Given the description of an element on the screen output the (x, y) to click on. 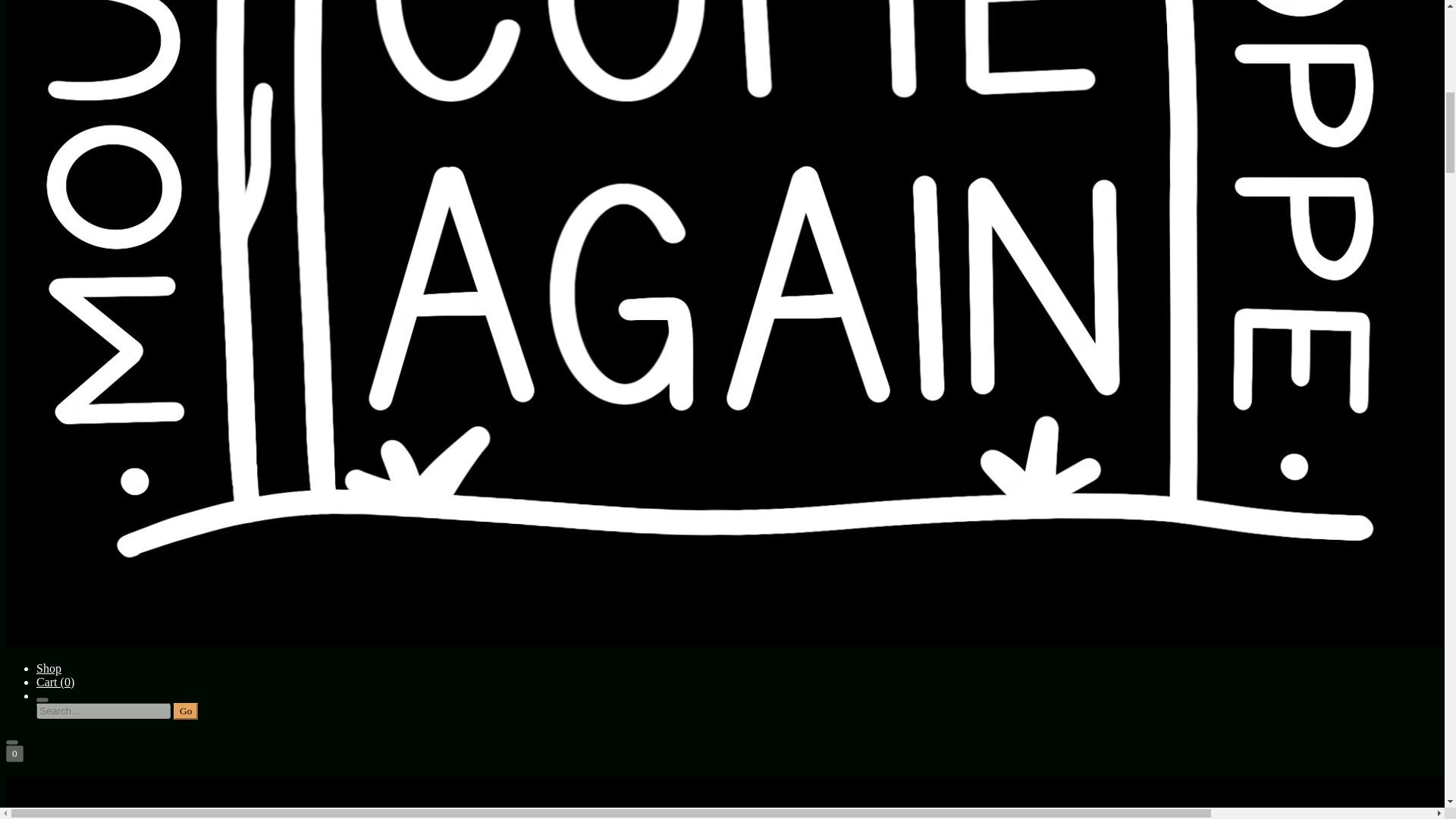
0 (14, 753)
Go (185, 710)
Home (721, 798)
Shop (48, 667)
Go (185, 710)
